Given the description of an element on the screen output the (x, y) to click on. 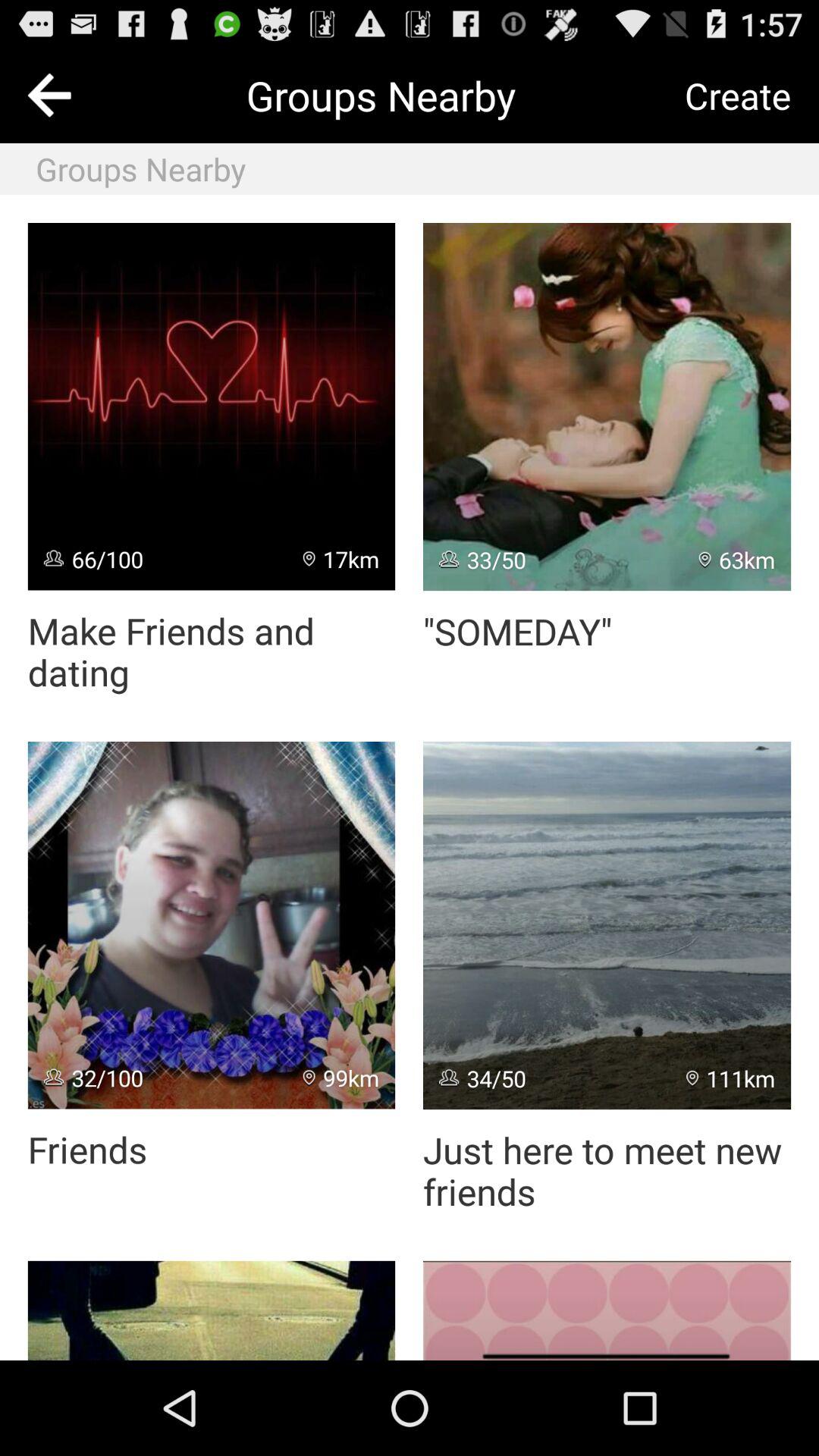
jump until the 99km (341, 1077)
